Given the description of an element on the screen output the (x, y) to click on. 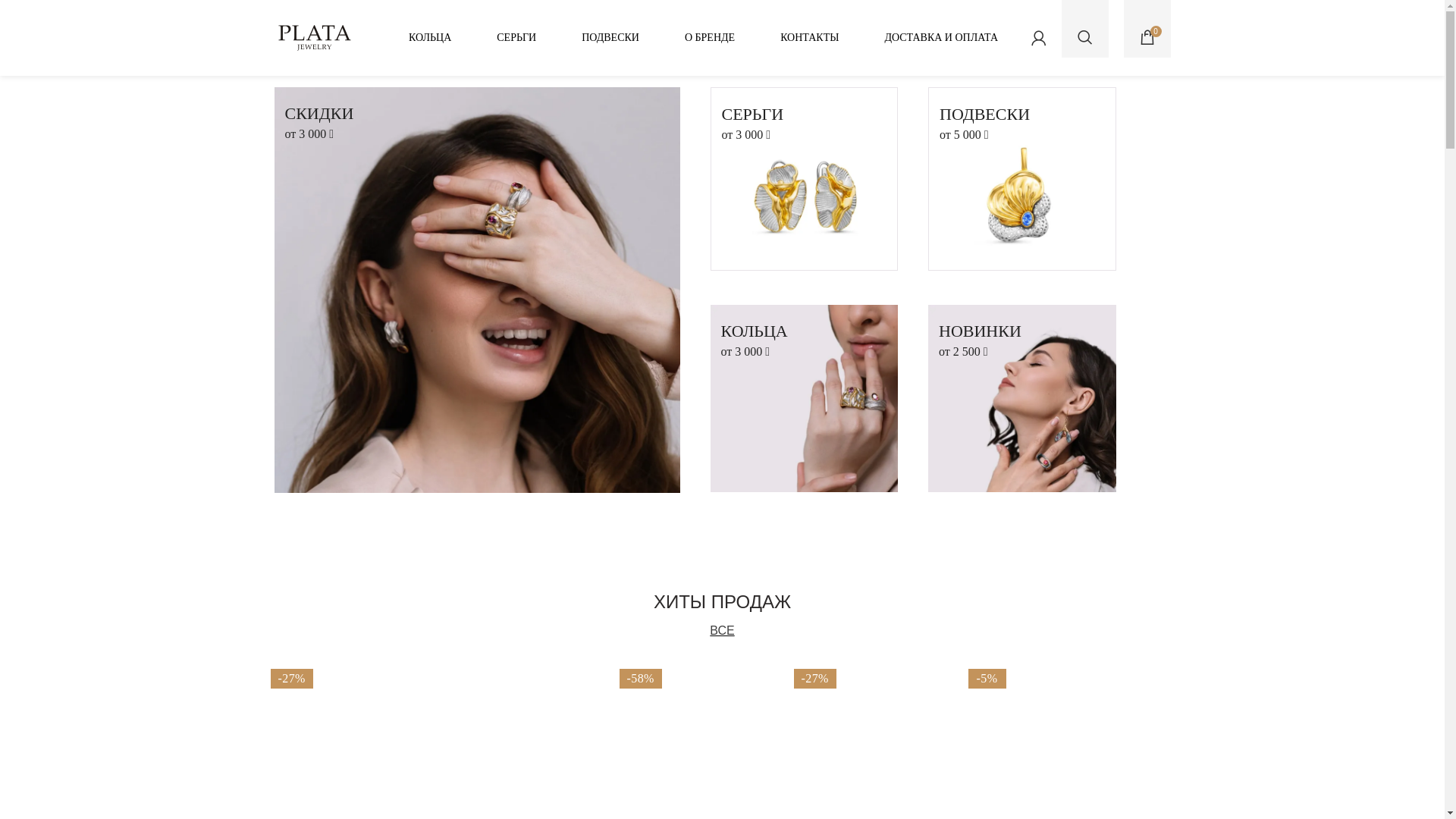
-27% Element type: text (345, 733)
-5% Element type: text (1043, 733)
-27% Element type: text (868, 733)
-58% Element type: text (694, 733)
